Given the description of an element on the screen output the (x, y) to click on. 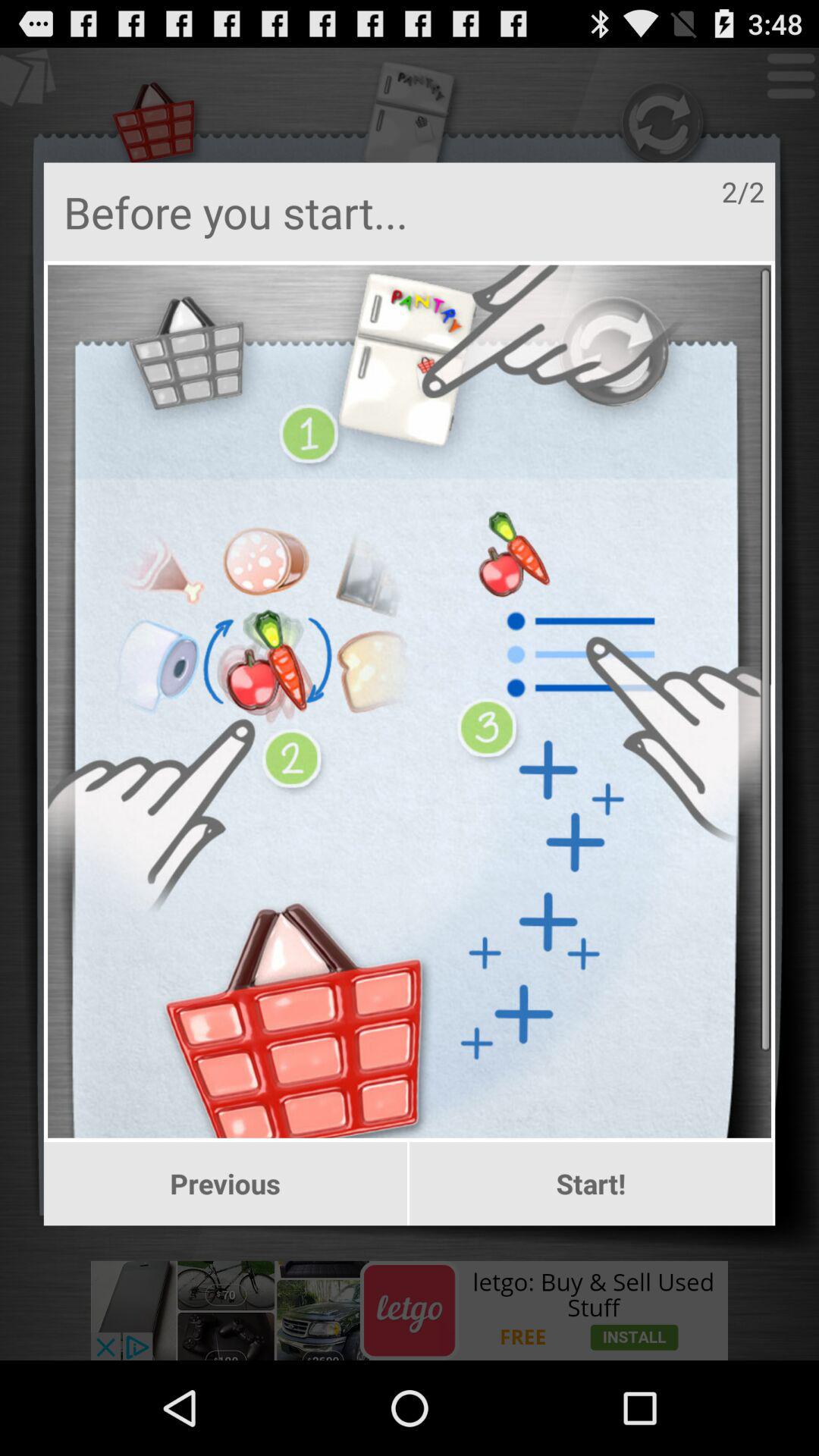
click start! icon (590, 1183)
